Given the description of an element on the screen output the (x, y) to click on. 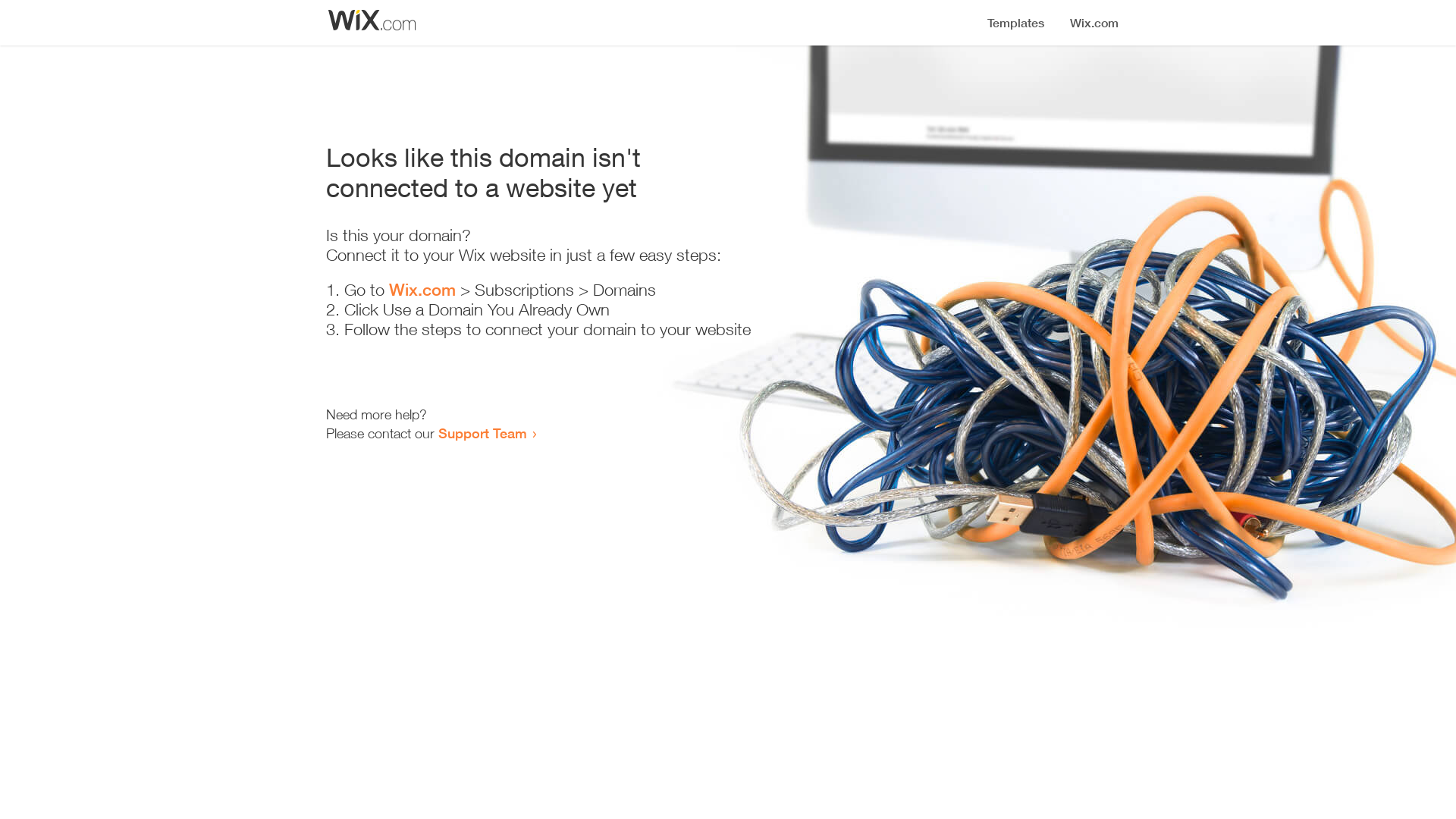
Support Team Element type: text (482, 432)
Wix.com Element type: text (422, 289)
